Given the description of an element on the screen output the (x, y) to click on. 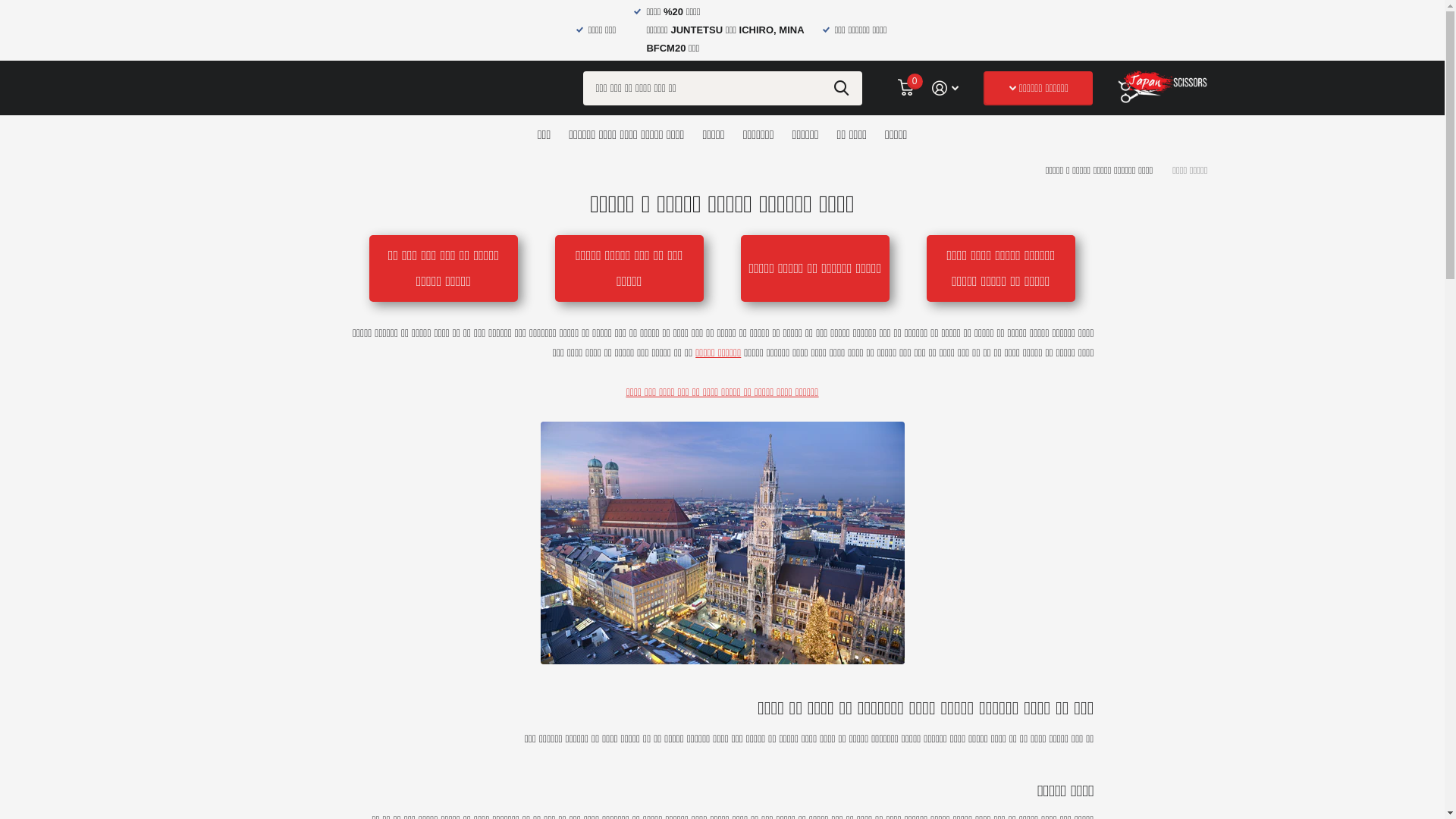
0 Element type: text (905, 87)
